Given the description of an element on the screen output the (x, y) to click on. 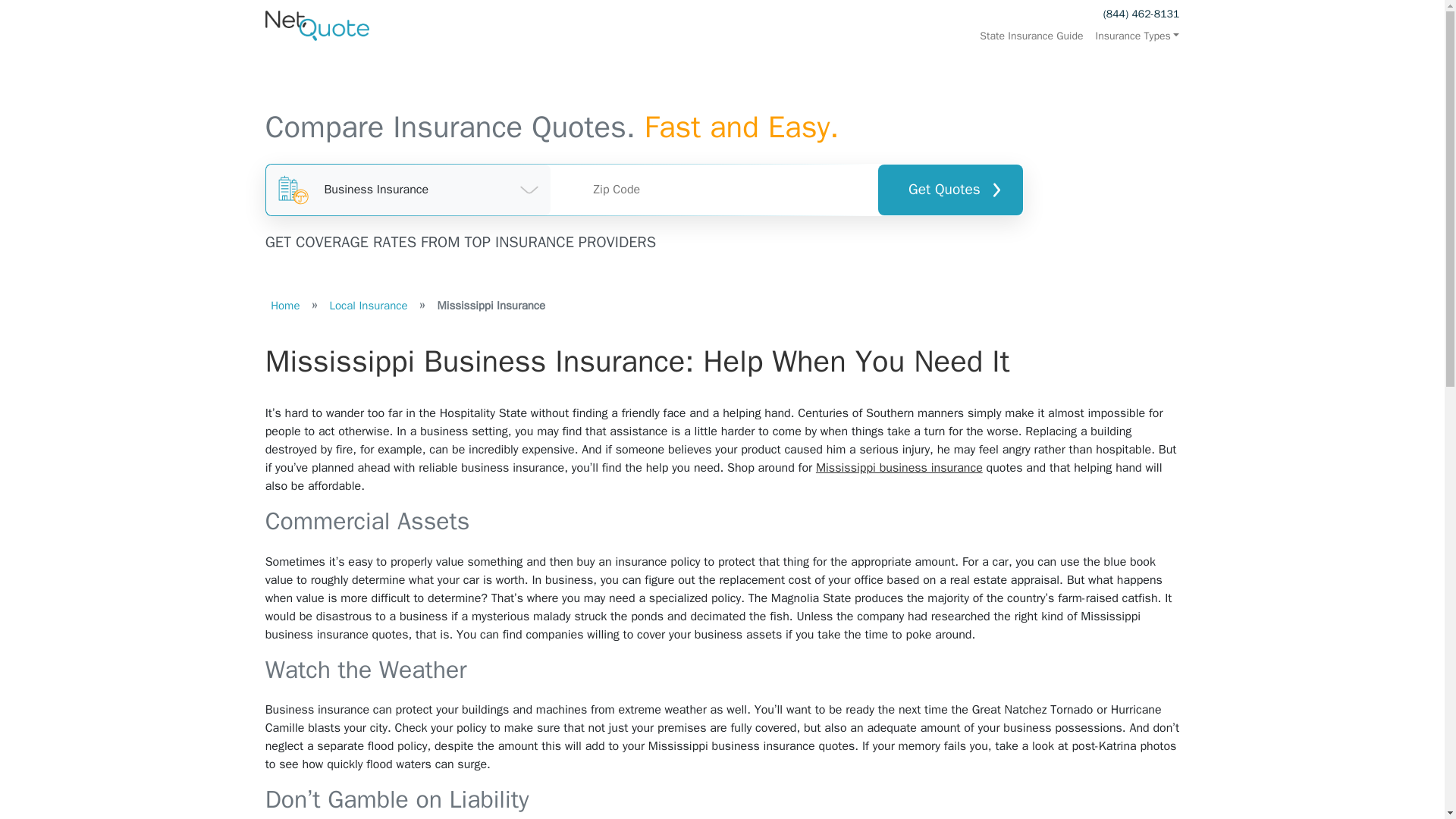
Home (284, 305)
State Insurance Guide (1031, 35)
Get Quotes (949, 189)
Mississippi business insurance (898, 467)
Business Insurance (408, 189)
Local Insurance (368, 305)
Insurance Types (1134, 35)
Call for Quotes (1141, 13)
